Given the description of an element on the screen output the (x, y) to click on. 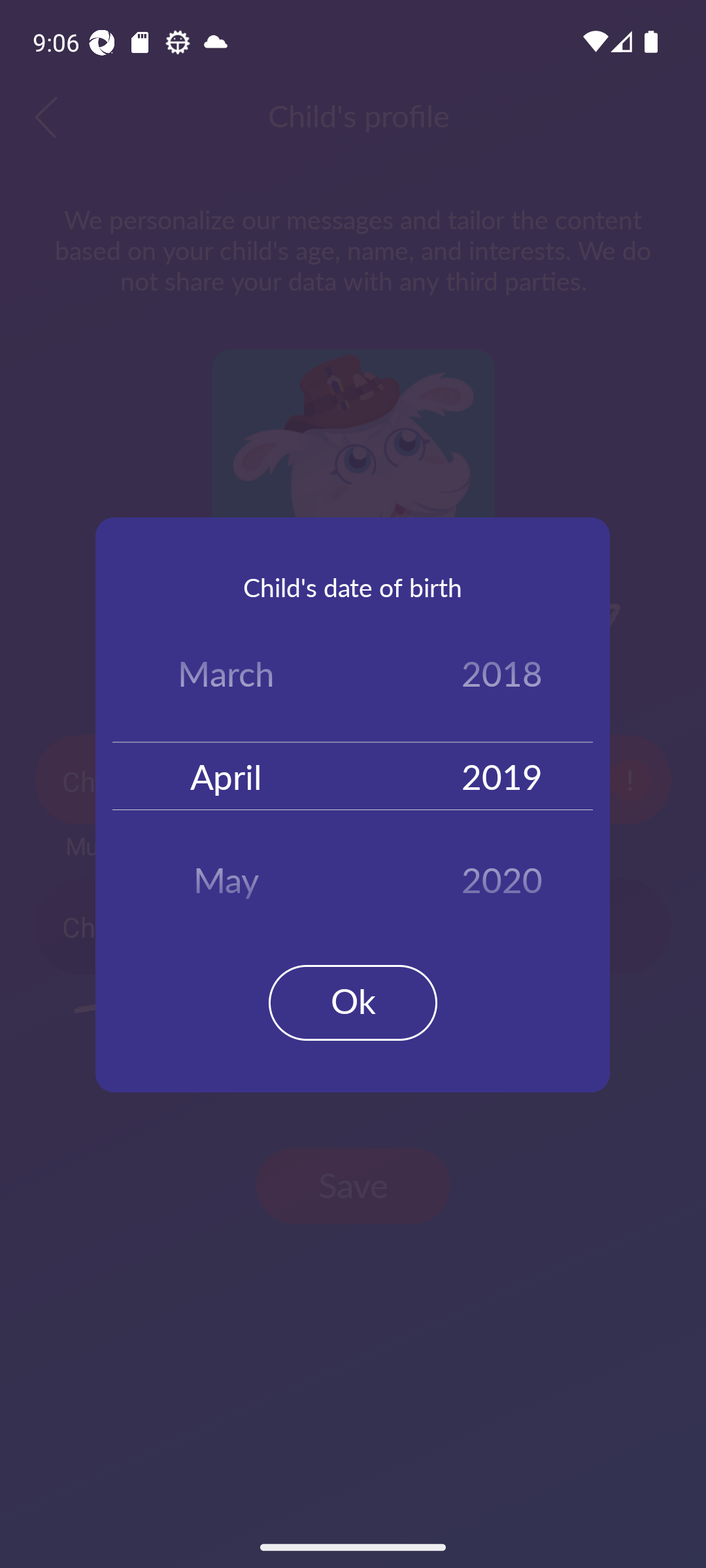
March (226, 676)
2018 (501, 676)
April (226, 774)
2019 (501, 774)
May (226, 872)
2020 (501, 872)
Ok (352, 1002)
